Given the description of an element on the screen output the (x, y) to click on. 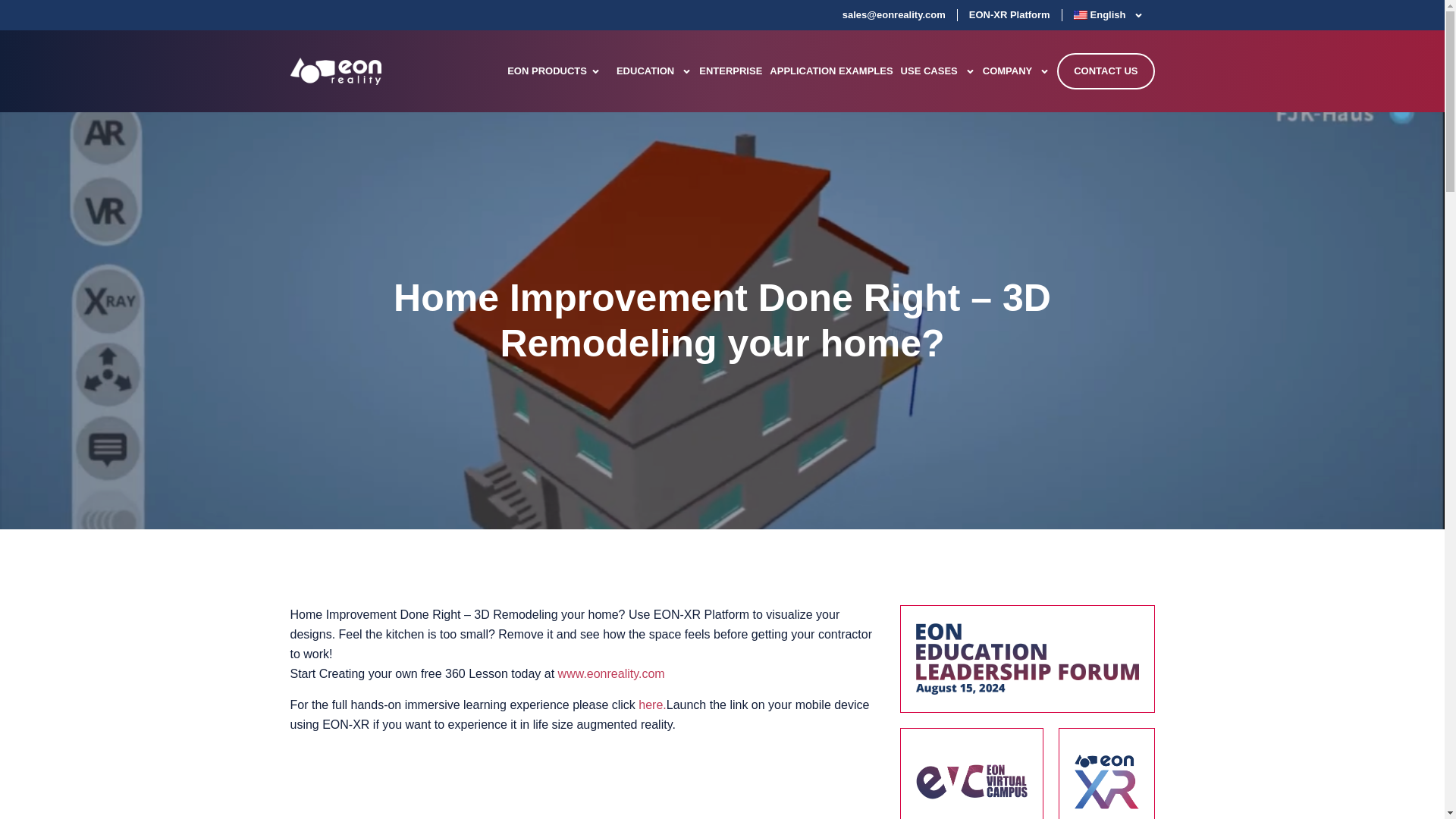
EON PRODUCTS (546, 70)
EON-XR Platform (1009, 14)
English (1108, 14)
English (1108, 14)
